Given the description of an element on the screen output the (x, y) to click on. 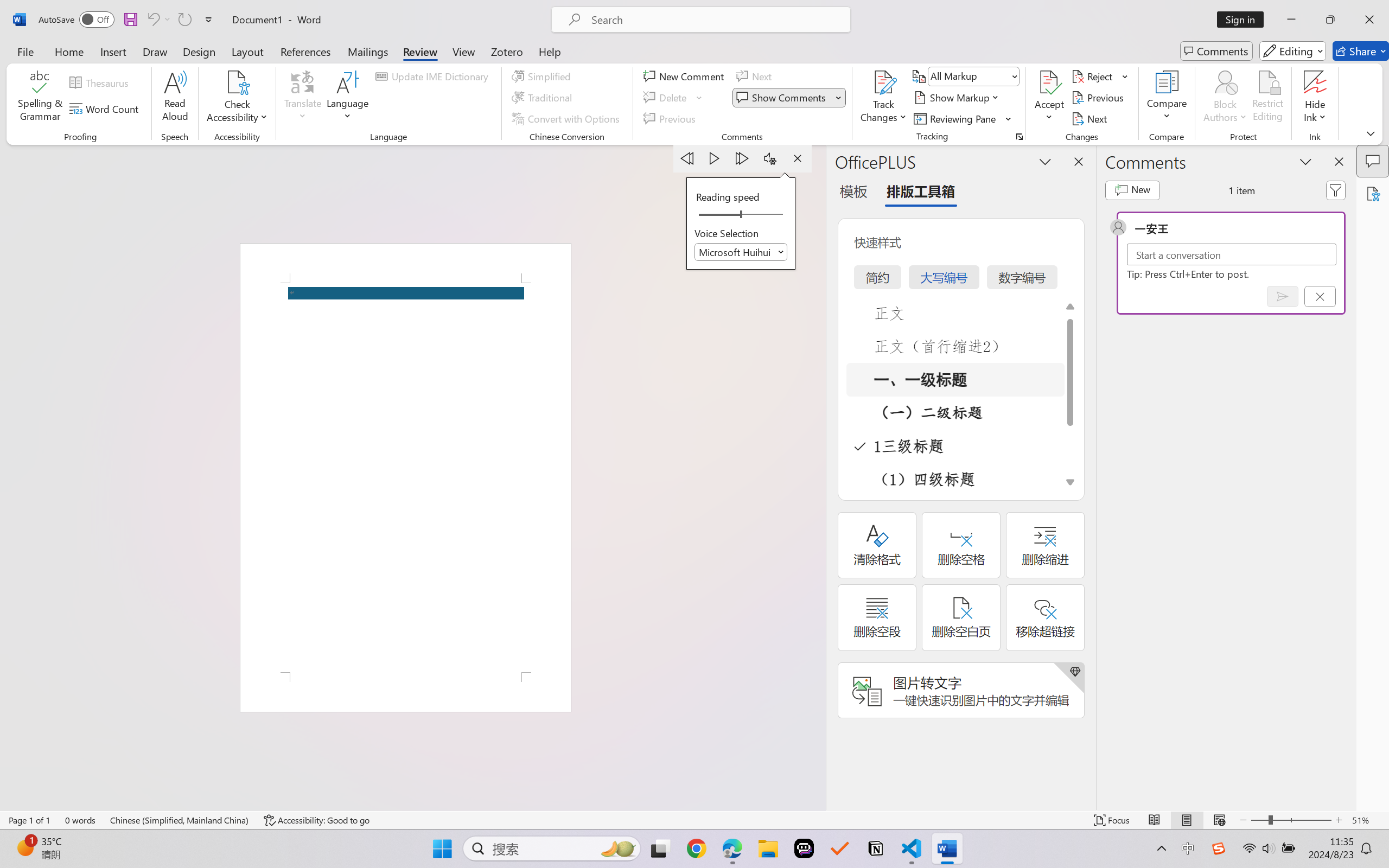
Accept (1049, 97)
Hide Ink (1315, 81)
Filter (1335, 190)
Show Comments (782, 97)
New Comment (685, 75)
